Given the description of an element on the screen output the (x, y) to click on. 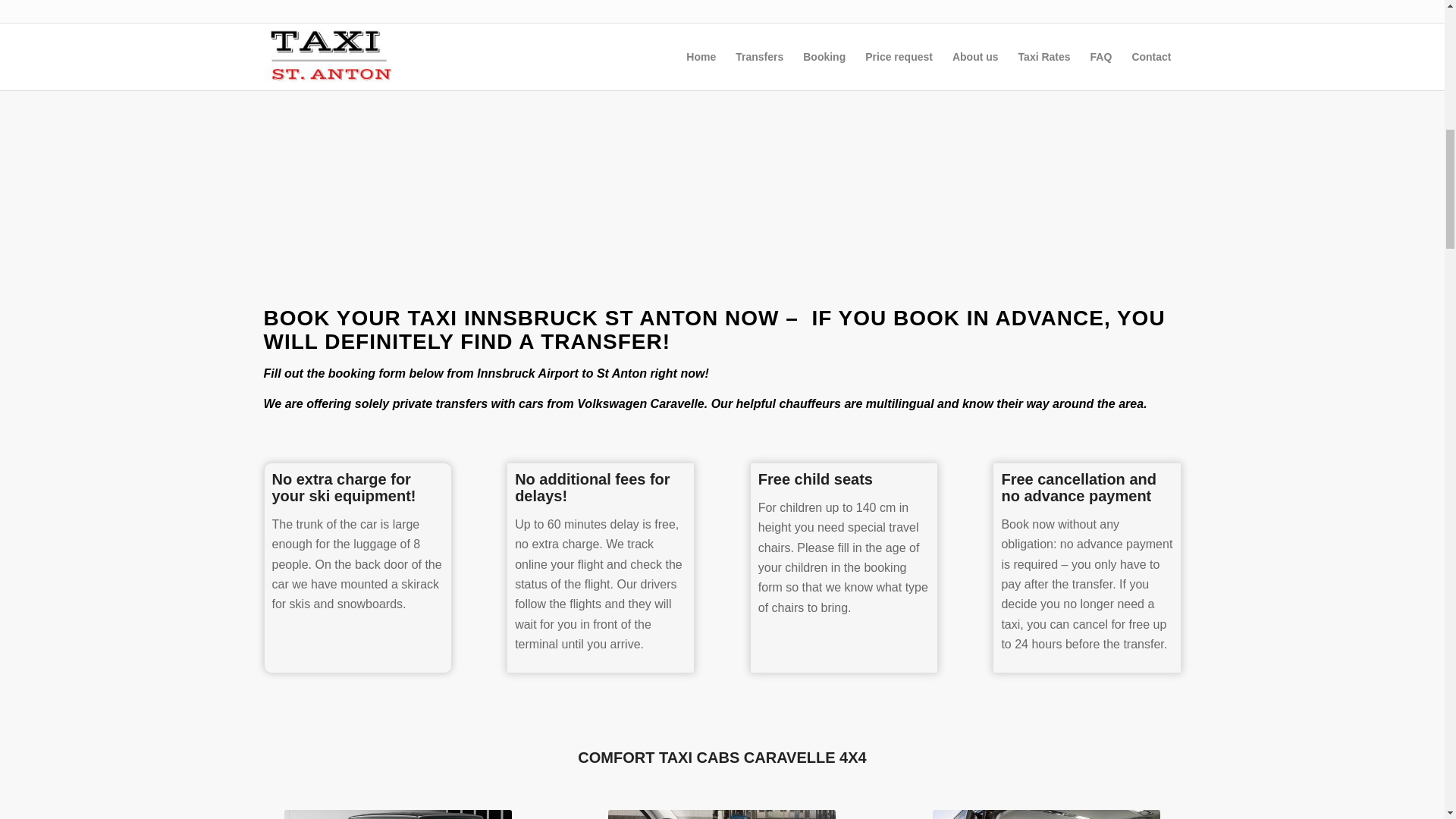
taxi st anton cab front (397, 814)
taxi stanton cab dashboard (721, 814)
taxi interior view (1046, 814)
